Given the description of an element on the screen output the (x, y) to click on. 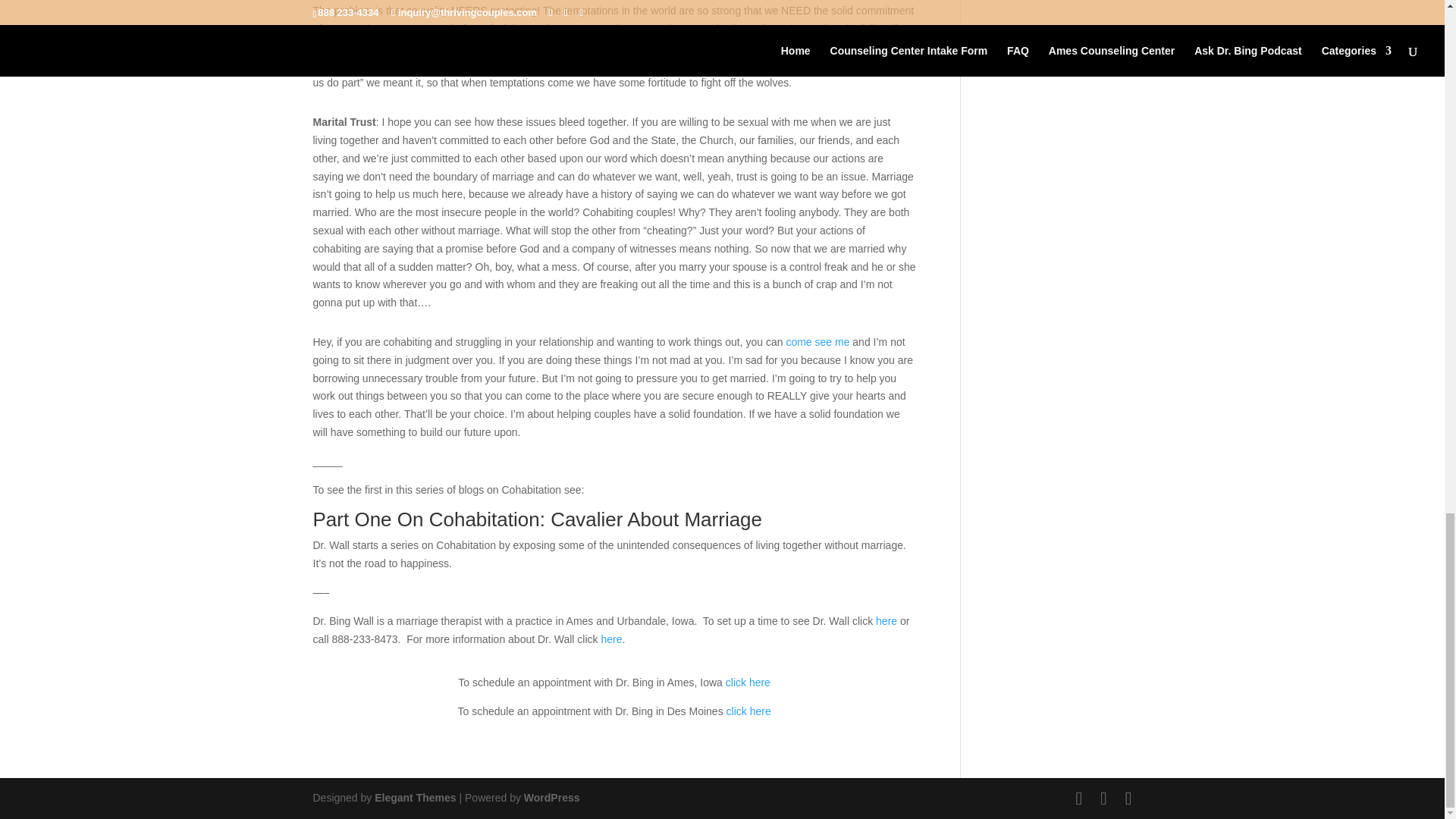
Premium WordPress Themes (414, 797)
